Given the description of an element on the screen output the (x, y) to click on. 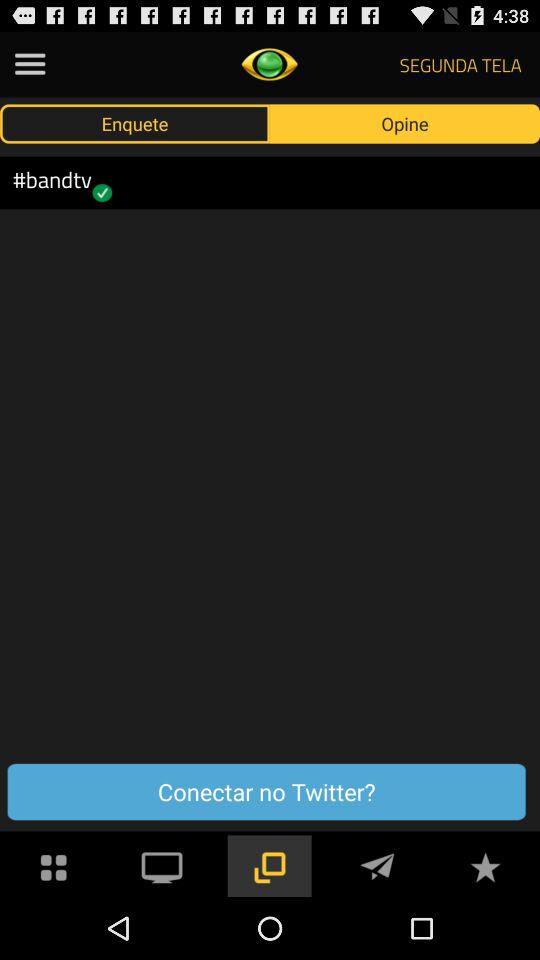
open the opine item (405, 123)
